Given the description of an element on the screen output the (x, y) to click on. 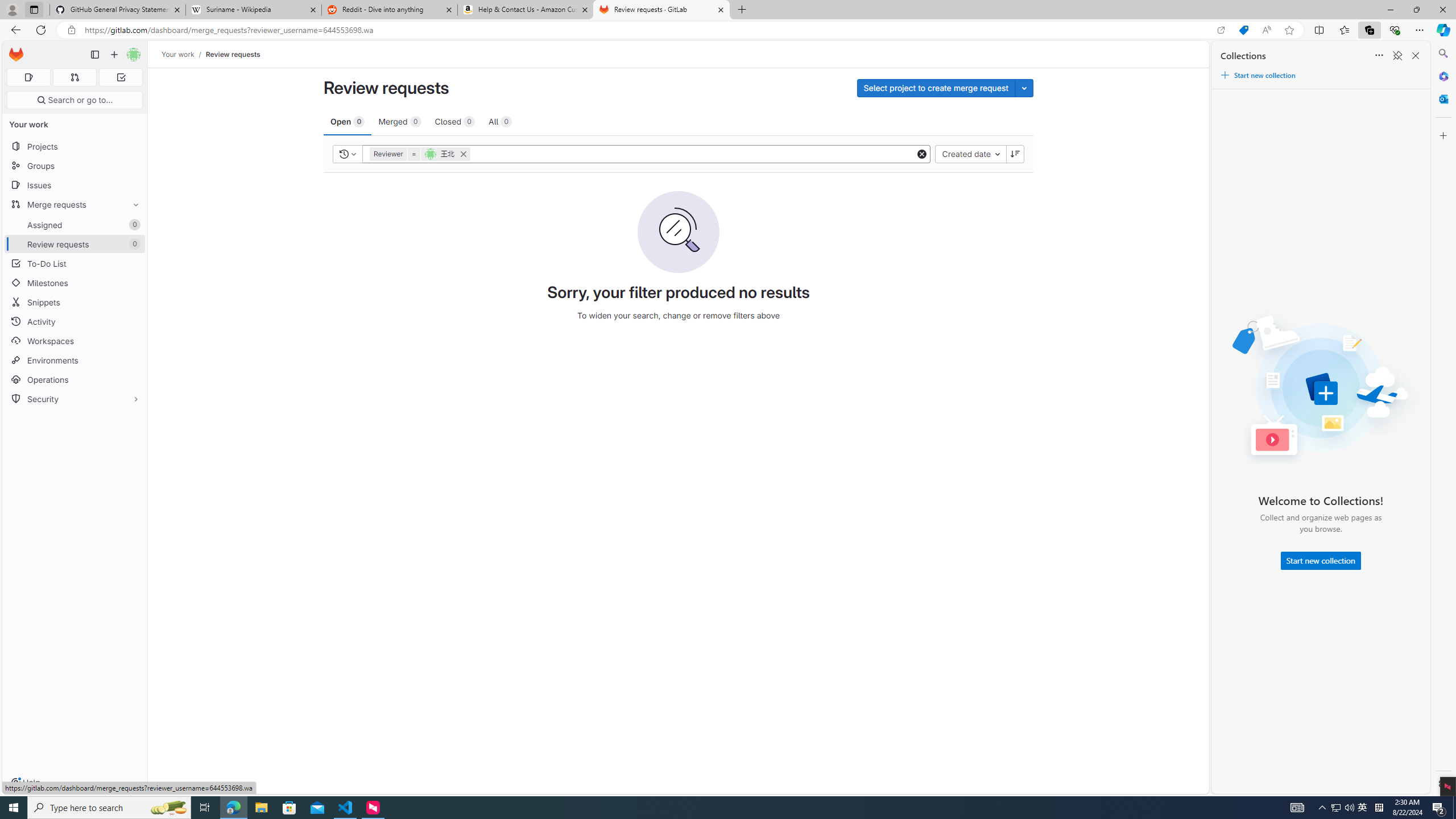
Snippets (74, 302)
Merge requestsAssigned0Review requests0 (74, 223)
Select project to create merge request (935, 87)
Operations (74, 379)
Class: s16 gl-icon gl-button-icon clear-search-icon (922, 153)
Assigned 0 (74, 224)
Open in app (1220, 29)
